Given the description of an element on the screen output the (x, y) to click on. 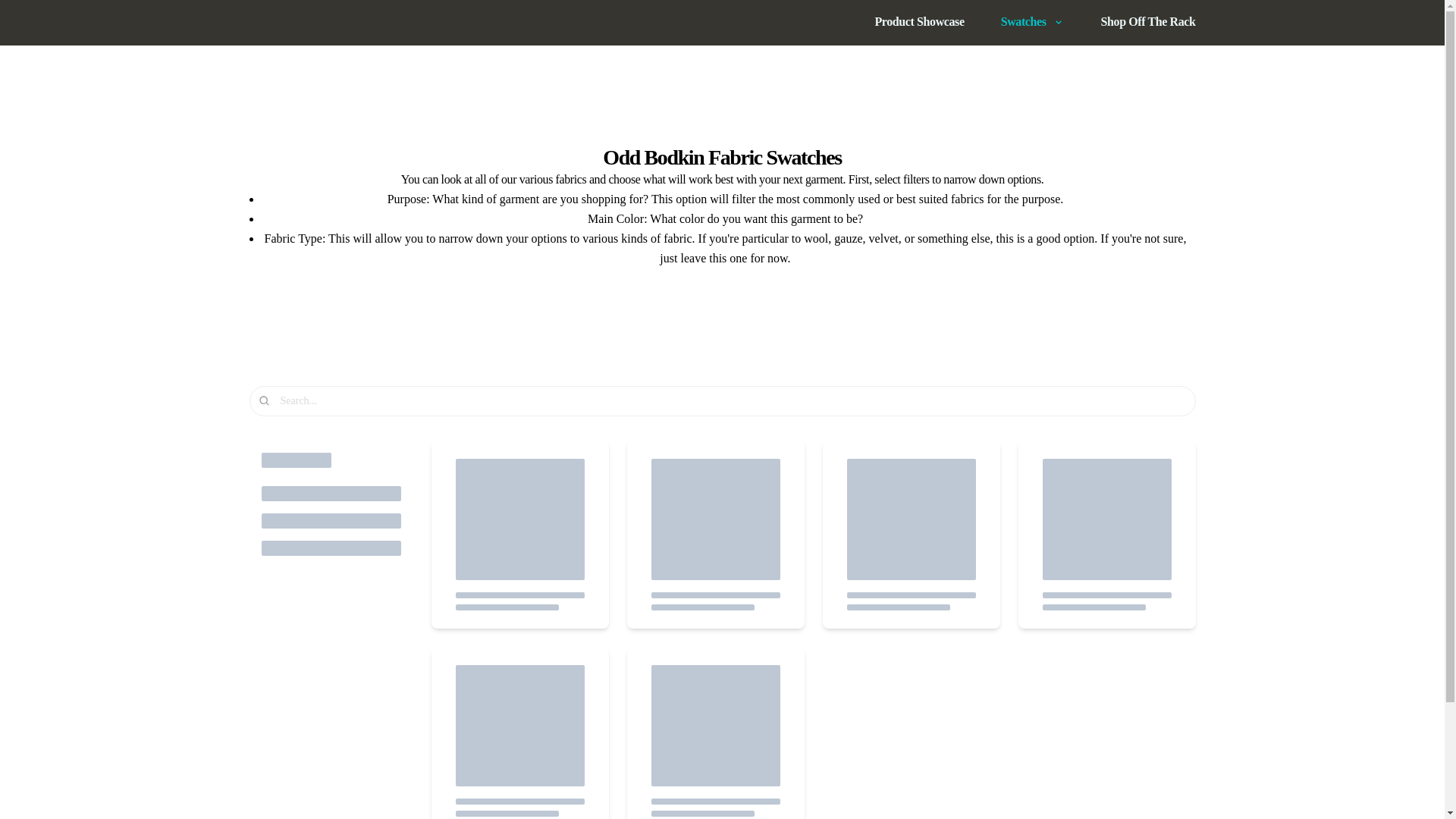
Shop Off The Rack (1147, 21)
Product Showcase (919, 21)
